Given the description of an element on the screen output the (x, y) to click on. 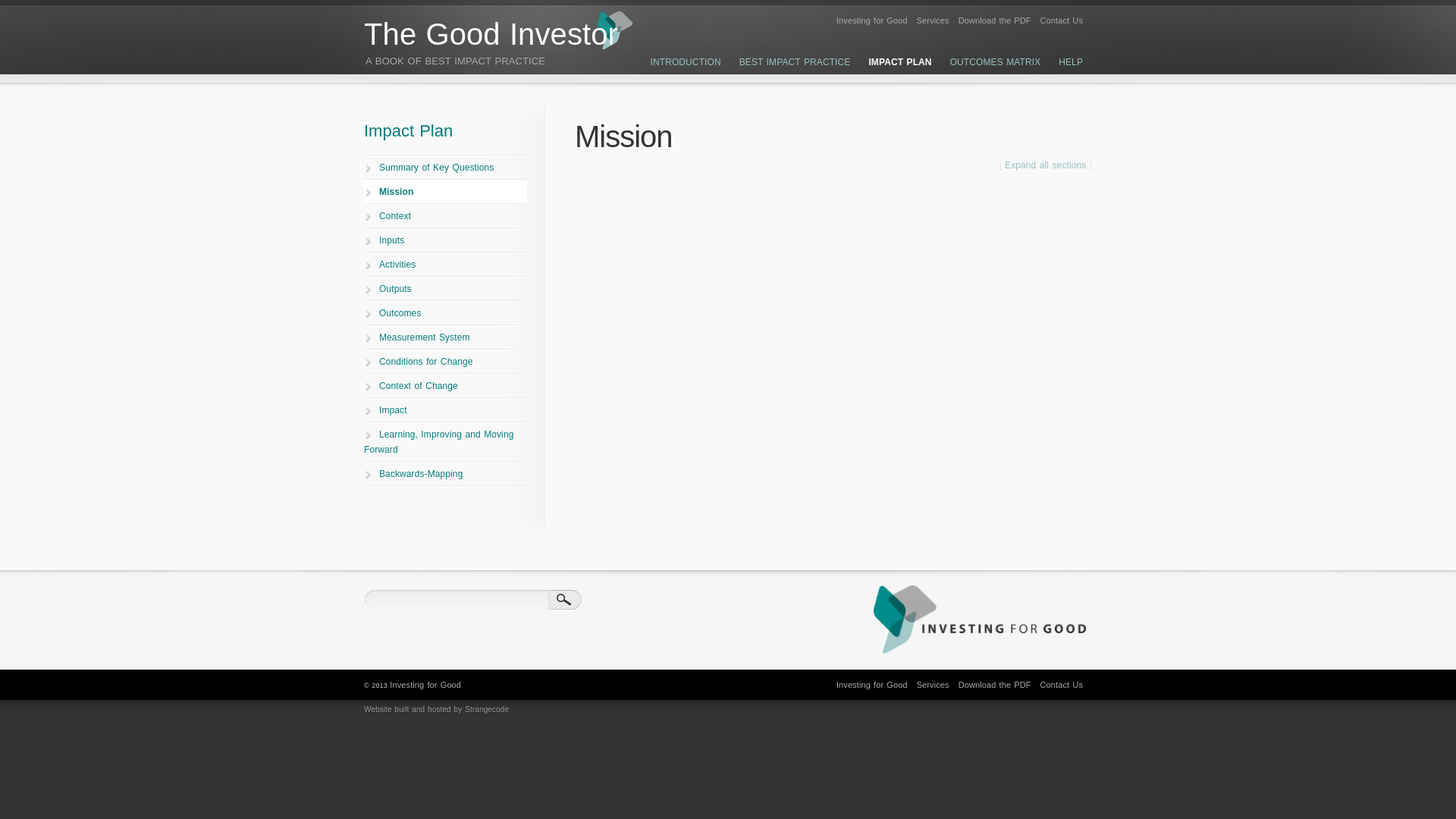
Services (933, 20)
The Good Investor (490, 33)
BEST IMPACT PRACTICE (795, 62)
IMPACT PLAN (899, 62)
INTRODUCTION (686, 62)
Download the PDF (994, 20)
Search (566, 599)
Contact Us (1062, 20)
Investing for Good (871, 20)
